Given the description of an element on the screen output the (x, y) to click on. 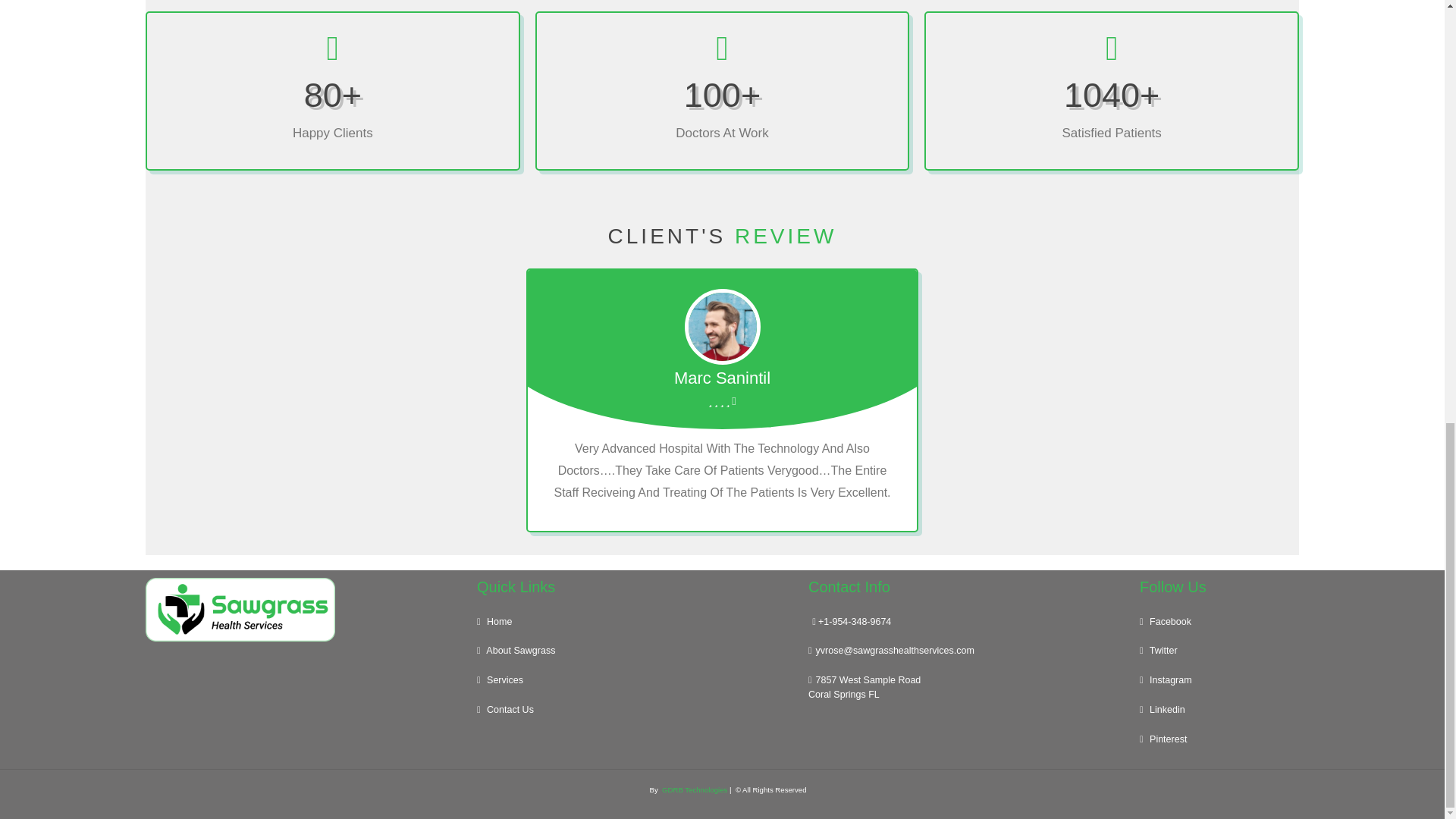
Home (635, 622)
Contact Us (635, 709)
About Sawgrass (635, 650)
Services (635, 680)
